Given the description of an element on the screen output the (x, y) to click on. 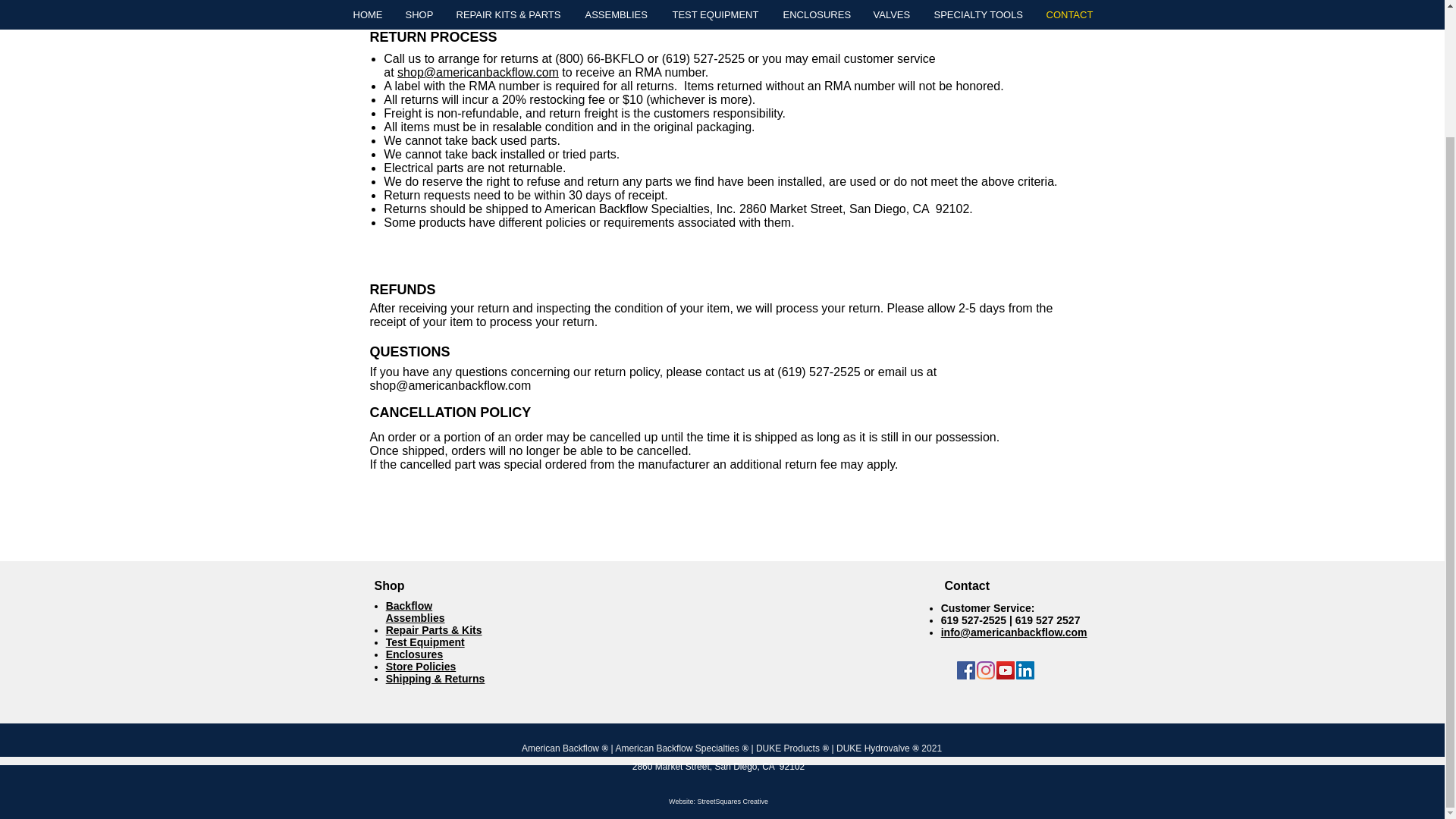
Backflow Assemblies (415, 611)
